Given the description of an element on the screen output the (x, y) to click on. 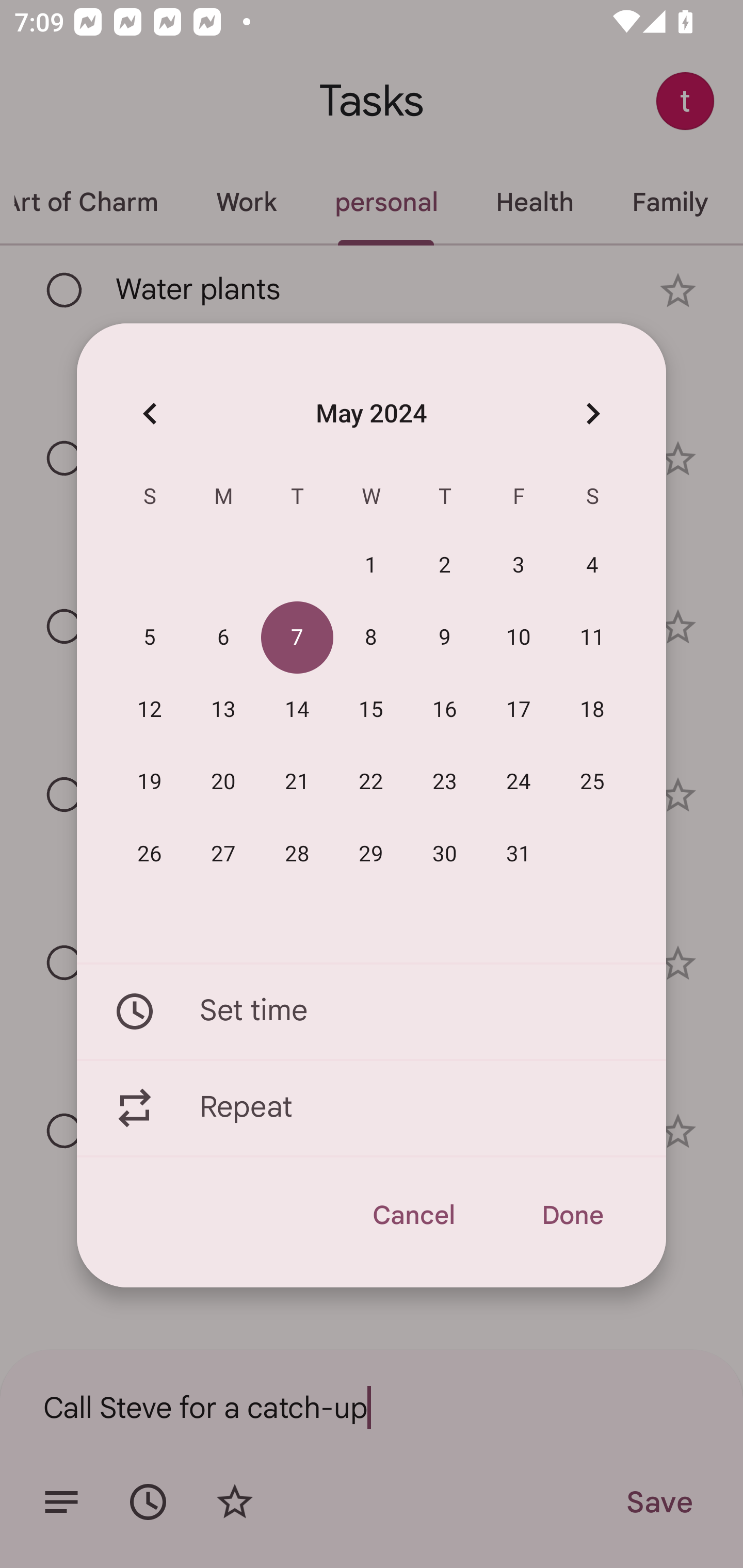
Previous month (149, 413)
Next month (592, 413)
1 01 May 2024 (370, 565)
2 02 May 2024 (444, 565)
3 03 May 2024 (518, 565)
4 04 May 2024 (592, 565)
5 05 May 2024 (149, 638)
6 06 May 2024 (223, 638)
7 07 May 2024 (297, 638)
8 08 May 2024 (370, 638)
9 09 May 2024 (444, 638)
10 10 May 2024 (518, 638)
11 11 May 2024 (592, 638)
12 12 May 2024 (149, 710)
13 13 May 2024 (223, 710)
14 14 May 2024 (297, 710)
15 15 May 2024 (370, 710)
16 16 May 2024 (444, 710)
17 17 May 2024 (518, 710)
18 18 May 2024 (592, 710)
19 19 May 2024 (149, 782)
20 20 May 2024 (223, 782)
21 21 May 2024 (297, 782)
22 22 May 2024 (370, 782)
23 23 May 2024 (444, 782)
24 24 May 2024 (518, 782)
25 25 May 2024 (592, 782)
26 26 May 2024 (149, 854)
27 27 May 2024 (223, 854)
28 28 May 2024 (297, 854)
29 29 May 2024 (370, 854)
30 30 May 2024 (444, 854)
31 31 May 2024 (518, 854)
Set time (371, 1011)
Repeat (371, 1108)
Cancel (412, 1215)
Done (571, 1215)
